Given the description of an element on the screen output the (x, y) to click on. 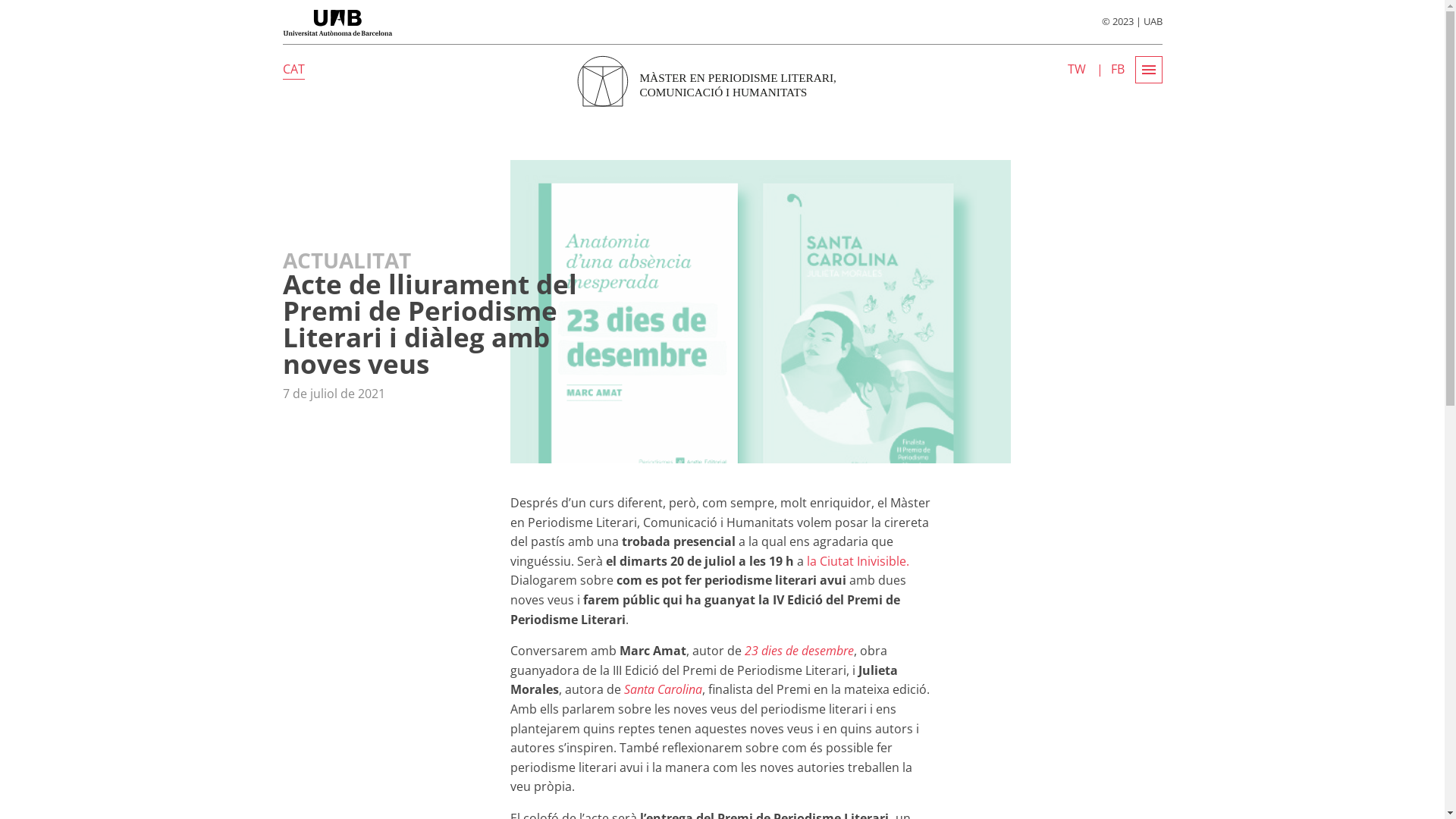
ACTUALITAT Element type: text (456, 275)
FB Element type: text (1116, 68)
la Ciutat Inivisible. Element type: text (857, 560)
CAT Element type: text (293, 69)
23 dies de desembre Element type: text (798, 650)
TW Element type: text (1076, 68)
menu Element type: text (1147, 69)
Santa Carolina Element type: text (662, 688)
